Given the description of an element on the screen output the (x, y) to click on. 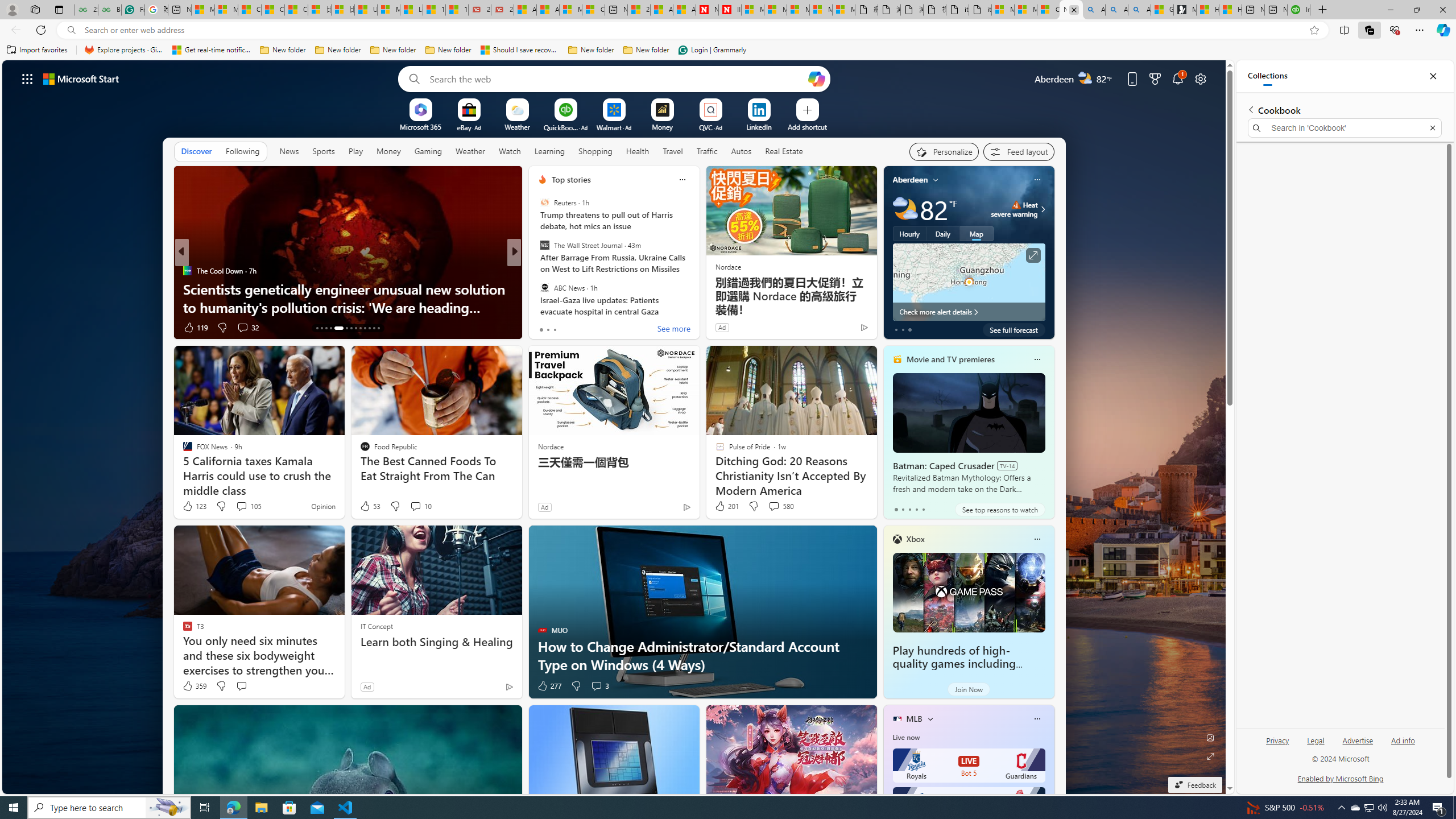
30 Timeless Cooking Hacks That REALLY Work (697, 307)
Heat - Severe Heat severe warning (1014, 208)
Movie and TV premieres (949, 359)
Intuit QuickBooks Online - Quickbooks (1298, 9)
tab-4 (923, 509)
Lifehacker (537, 270)
